Given the description of an element on the screen output the (x, y) to click on. 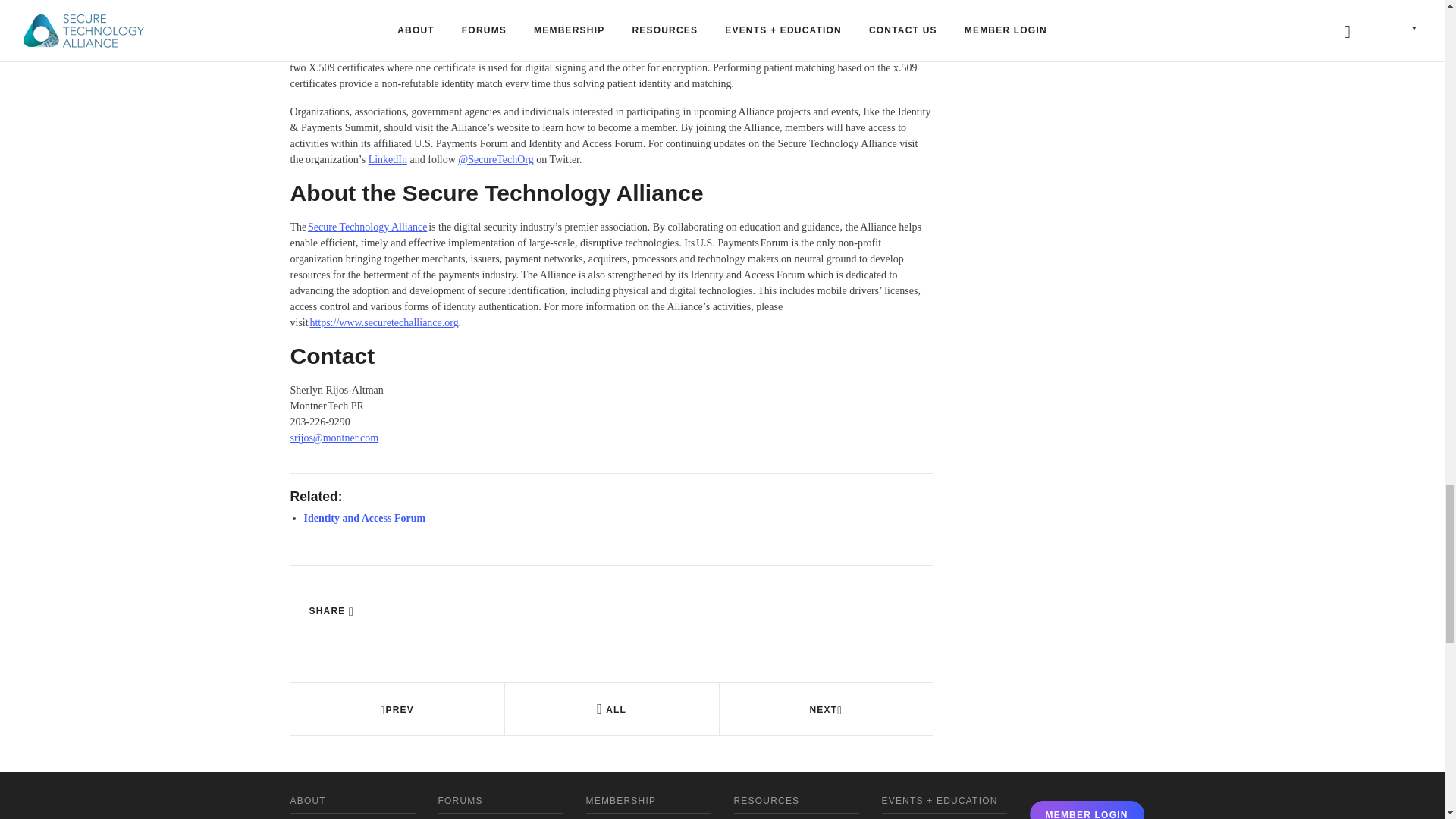
Identity and Access Forum (363, 518)
